Given the description of an element on the screen output the (x, y) to click on. 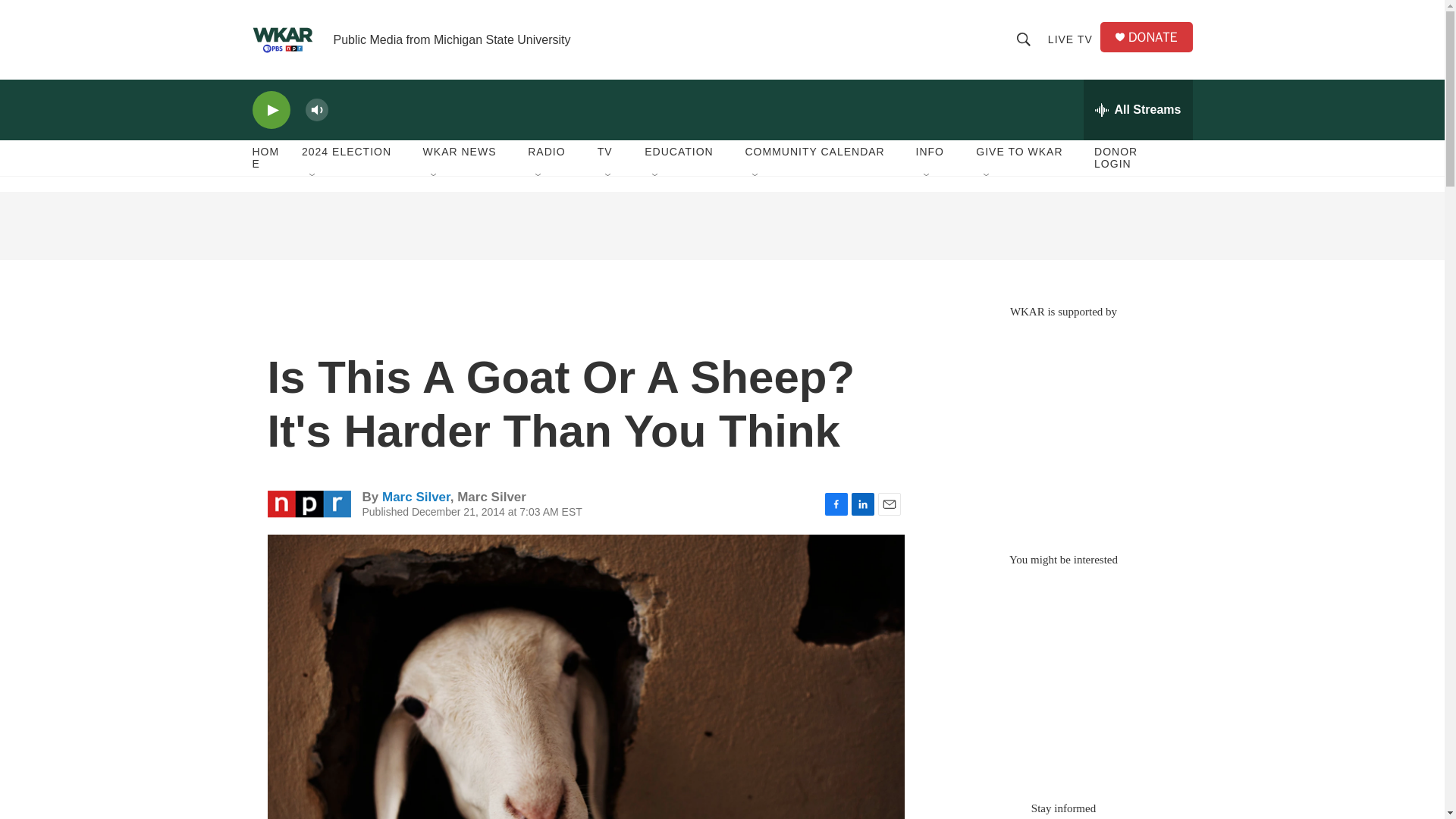
3rd party ad content (721, 225)
3rd party ad content (1062, 677)
3rd party ad content (1062, 428)
